Given the description of an element on the screen output the (x, y) to click on. 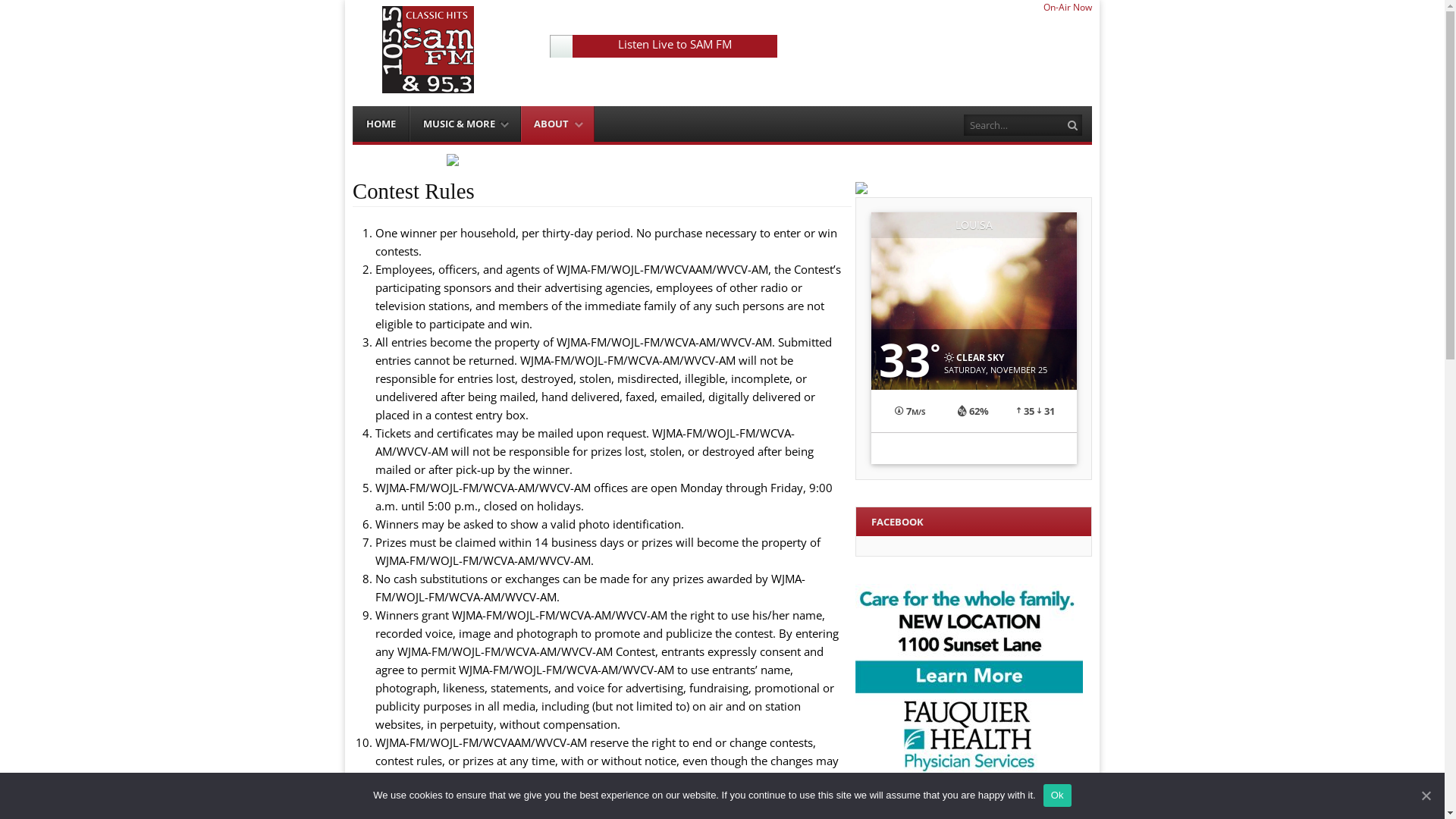
  Element type: text (560, 45)
HOME Element type: text (380, 123)
Go Element type: text (1074, 125)
Skip to content Element type: text (386, 113)
MUSIC & MORE Element type: text (464, 123)
ABOUT Element type: text (557, 123)
Ok Element type: text (1057, 795)
Listen Live to SAM FM Element type: text (674, 43)
